Given the description of an element on the screen output the (x, y) to click on. 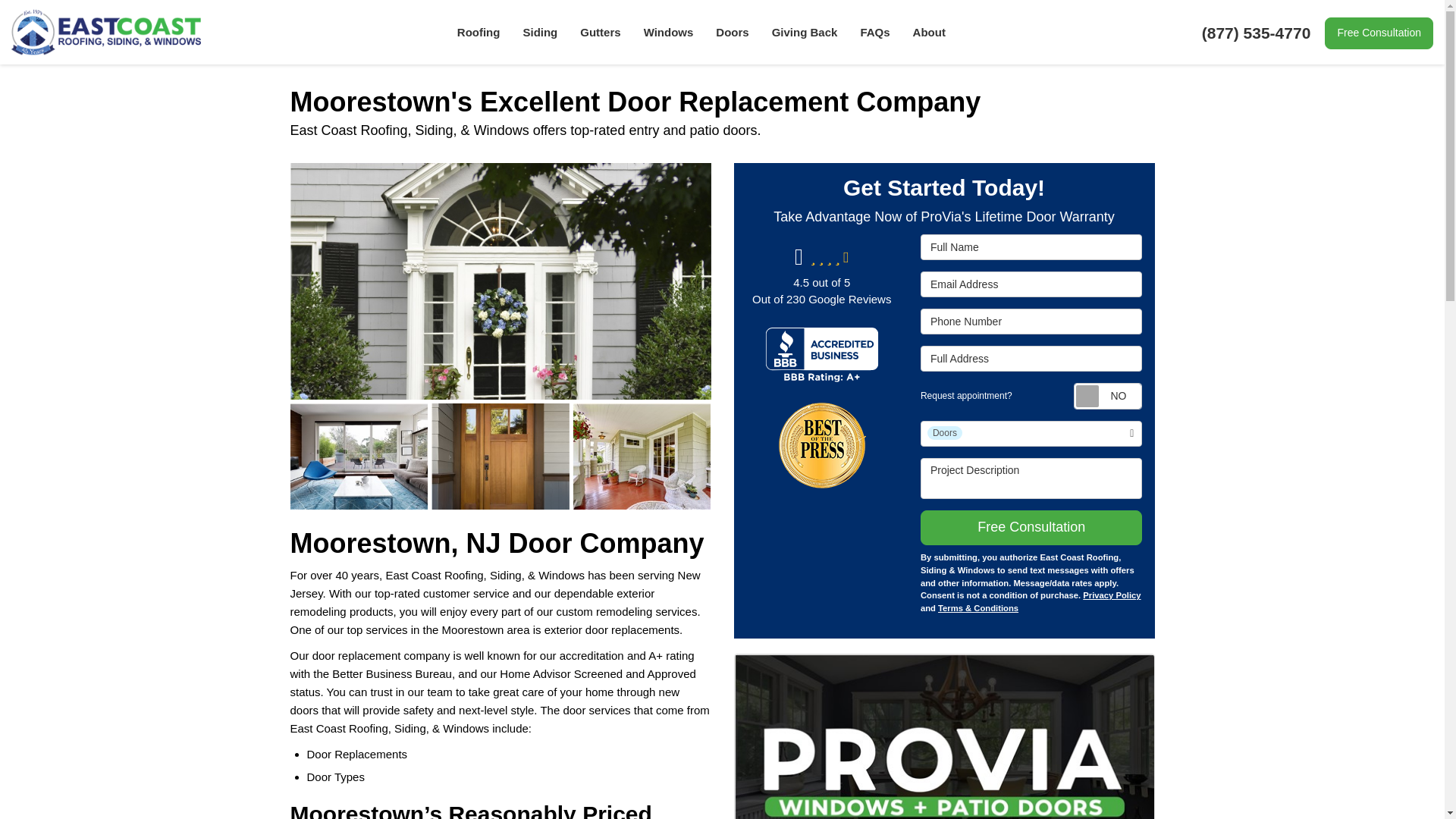
Giving Back (804, 32)
Roofing (478, 32)
Gutters (600, 32)
Siding (540, 32)
Free Consultation (1378, 33)
Free Consultation (1378, 33)
Windows (667, 32)
